Given the description of an element on the screen output the (x, y) to click on. 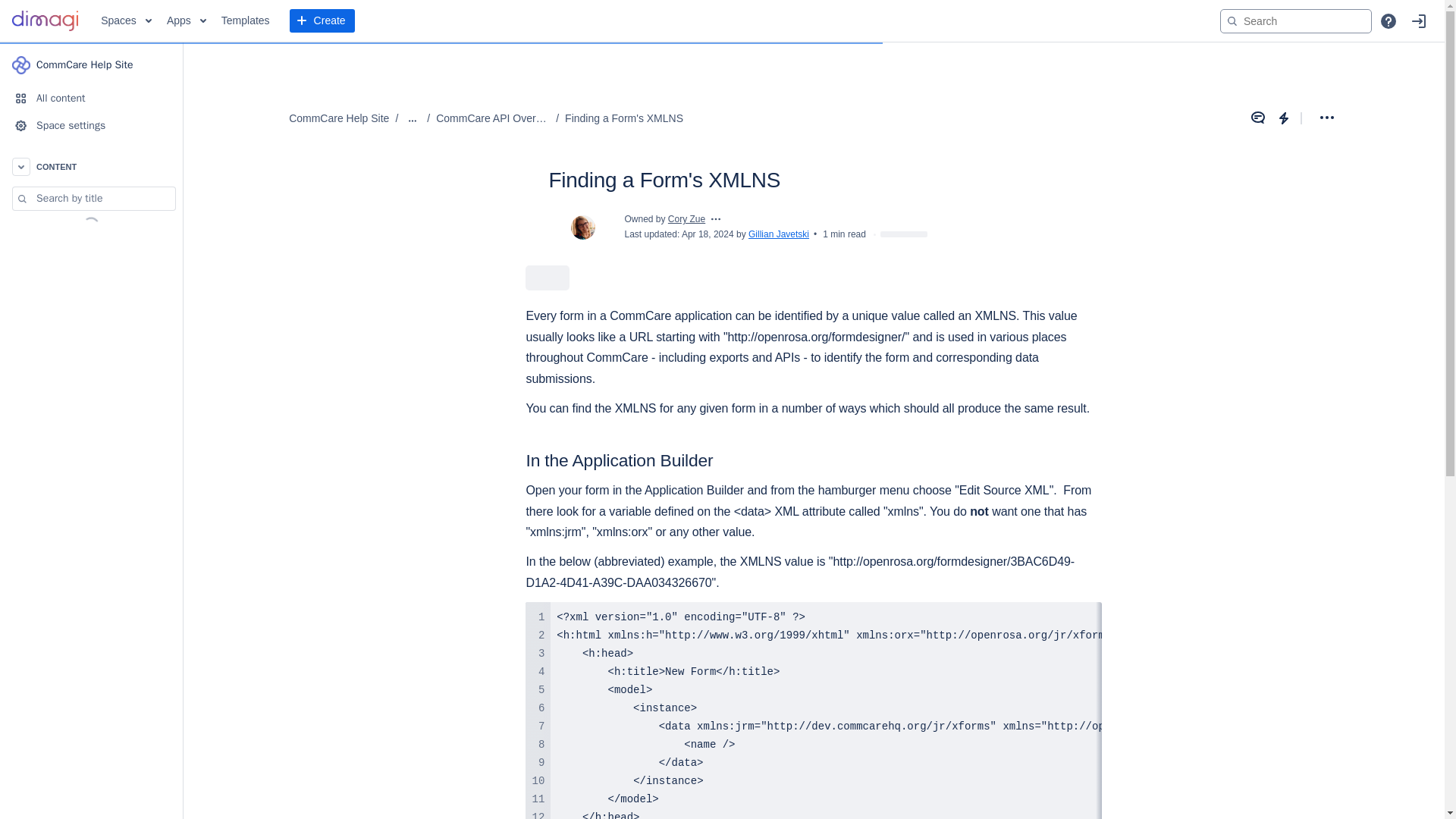
Apps (186, 21)
Create (322, 21)
Templates (245, 21)
Gillian Javetski (778, 234)
CommCare Help Site (338, 118)
Cory Zue (686, 218)
CommCare API Overview (492, 118)
CONTENT (90, 166)
Spaces (125, 21)
All content (90, 98)
Finding a Form's XMLNS (623, 118)
Space settings (90, 125)
Apr 18, 2024 (707, 234)
CommCare Help Site (90, 64)
